Given the description of an element on the screen output the (x, y) to click on. 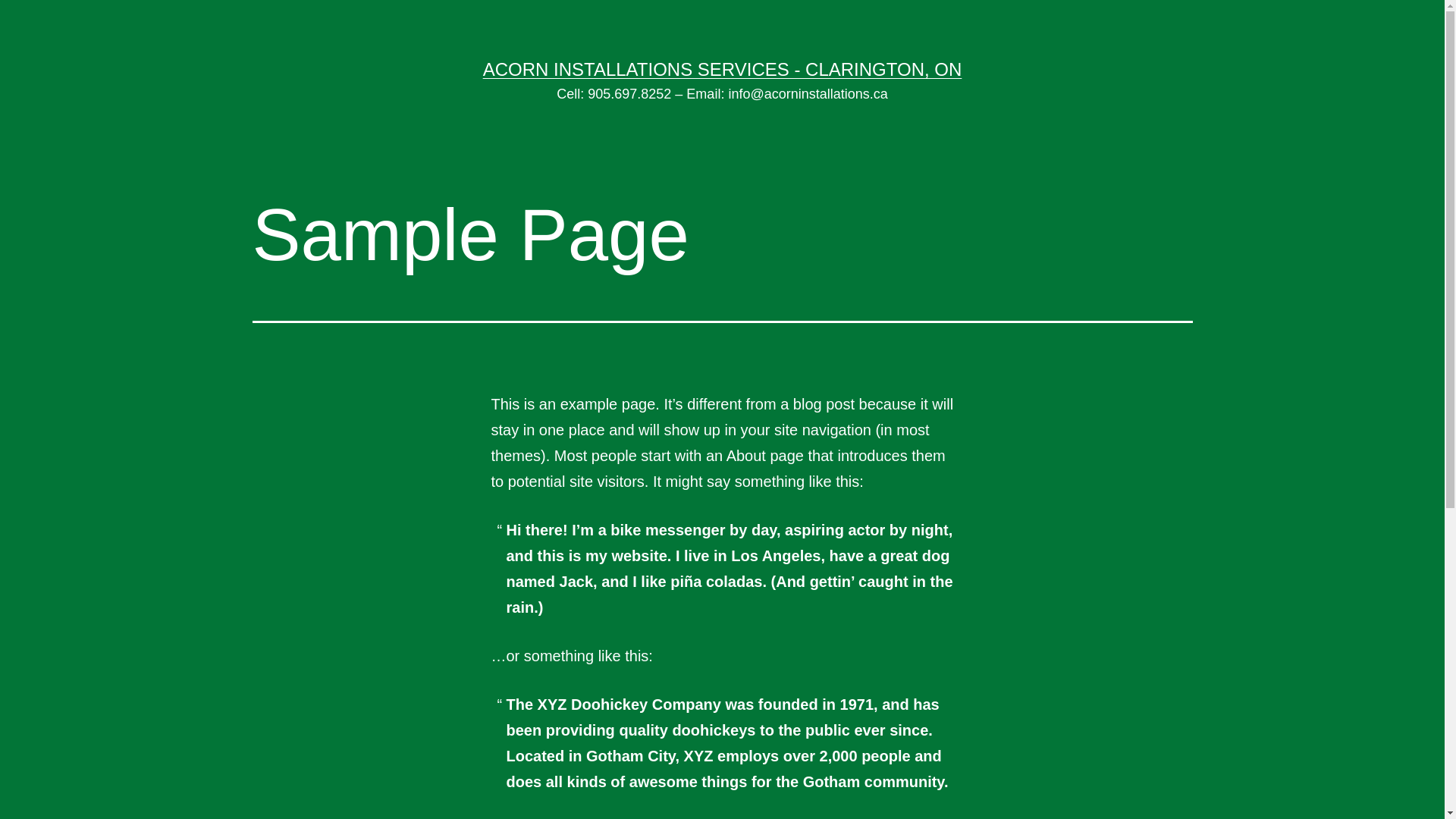
ACORN INSTALLATIONS SERVICES - CLARINGTON, ON Element type: text (722, 69)
